Given the description of an element on the screen output the (x, y) to click on. 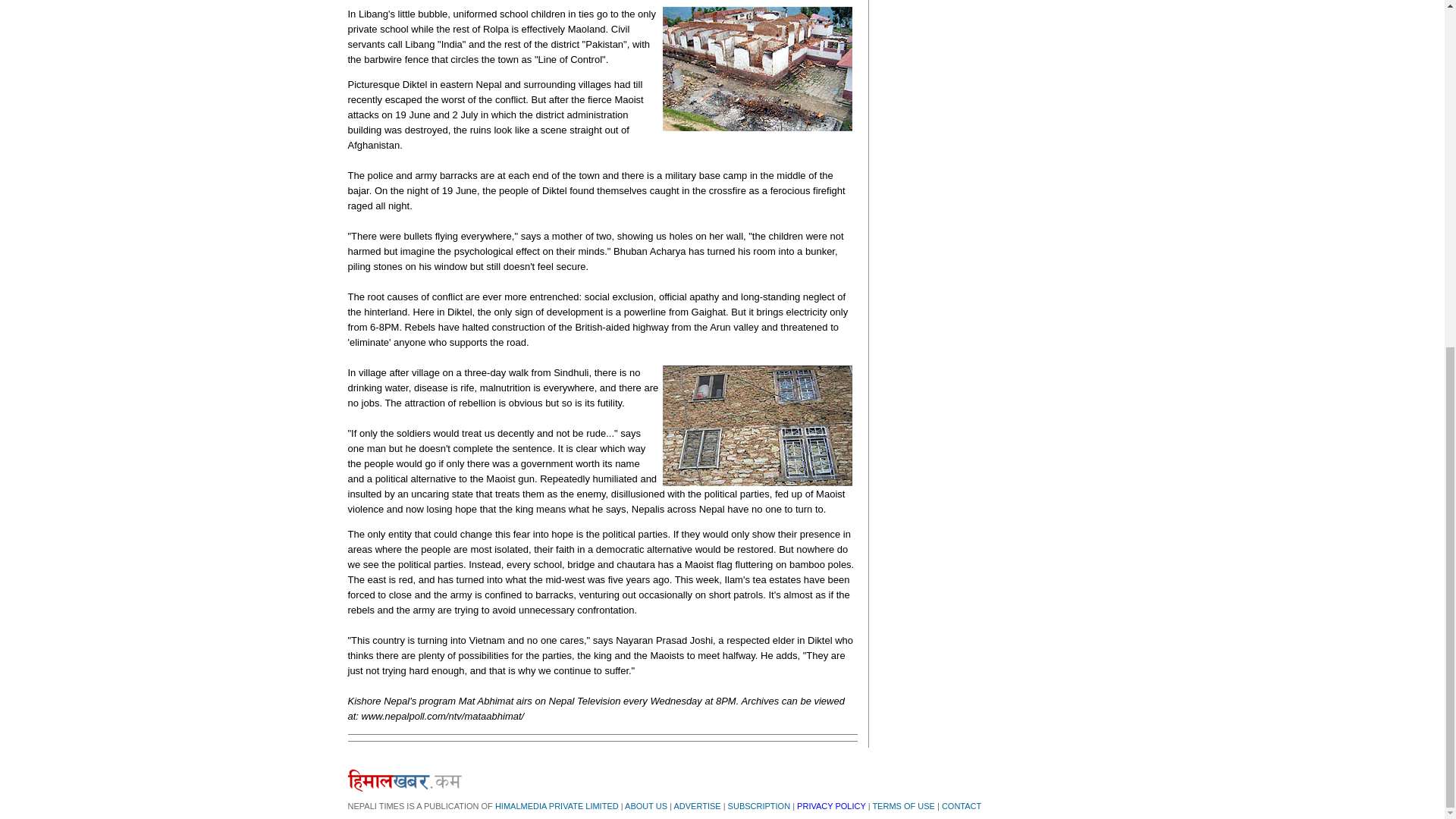
PRIVACY POLICY (830, 805)
CONTACT (961, 805)
HIMALMEDIA PRIVATE LIMITED (556, 805)
ADVERTISE (696, 805)
ABOUT US (645, 805)
TERMS OF USE (903, 805)
SUBSCRIPTION (759, 805)
himalkhabar.com (404, 780)
